Given the description of an element on the screen output the (x, y) to click on. 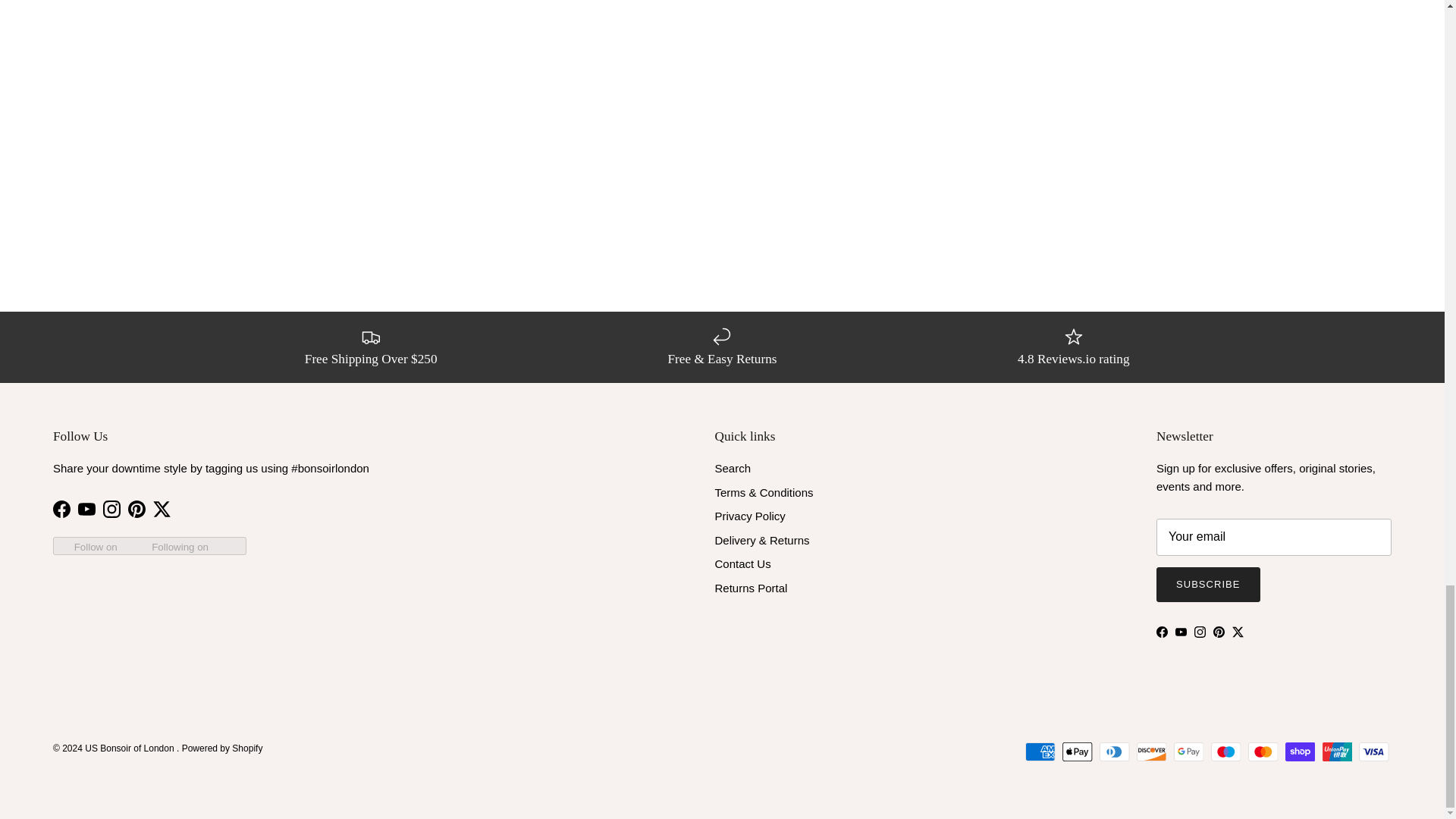
US Bonsoir of London  on YouTube (87, 508)
US Bonsoir of London  on Twitter (161, 508)
US Bonsoir of London  on Instagram (111, 508)
US Bonsoir of London  on Facebook (60, 508)
US Bonsoir of London  on Pinterest (136, 508)
